Given the description of an element on the screen output the (x, y) to click on. 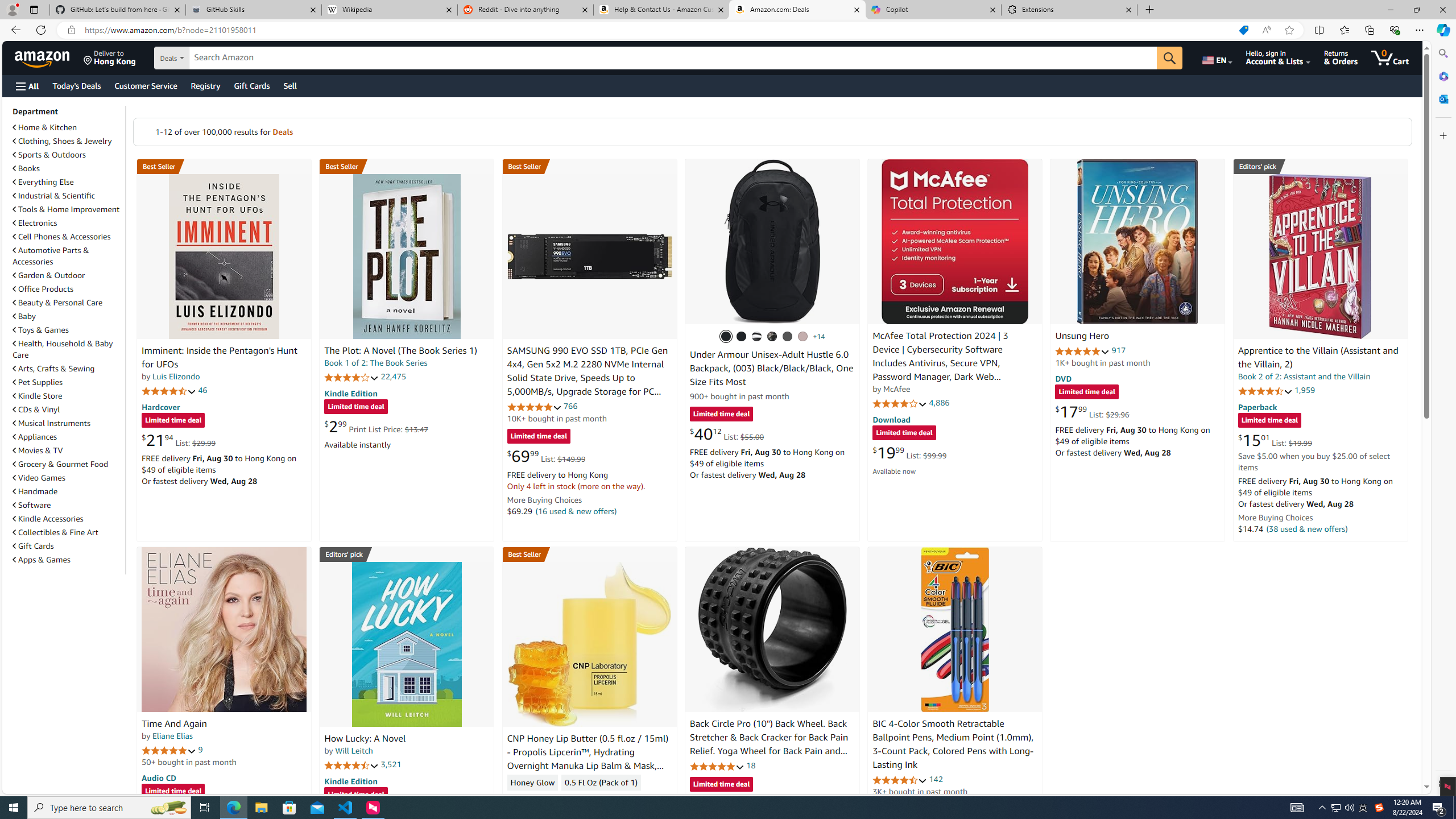
(001) Black / Black / Metallic Gold (741, 336)
Open Menu (26, 86)
Book 1 of 2: The Book Series (376, 362)
$2.99 Print List Price: $13.47 (376, 426)
Automotive Parts & Accessories (67, 255)
Tab actions menu (33, 9)
Back (13, 29)
Sell (290, 85)
1,959 (1305, 390)
5.0 out of 5 stars (168, 750)
Appliances (67, 436)
Hardcover (160, 406)
Search Amazon (673, 57)
Copilot (Ctrl+Shift+.) (1442, 29)
